Given the description of an element on the screen output the (x, y) to click on. 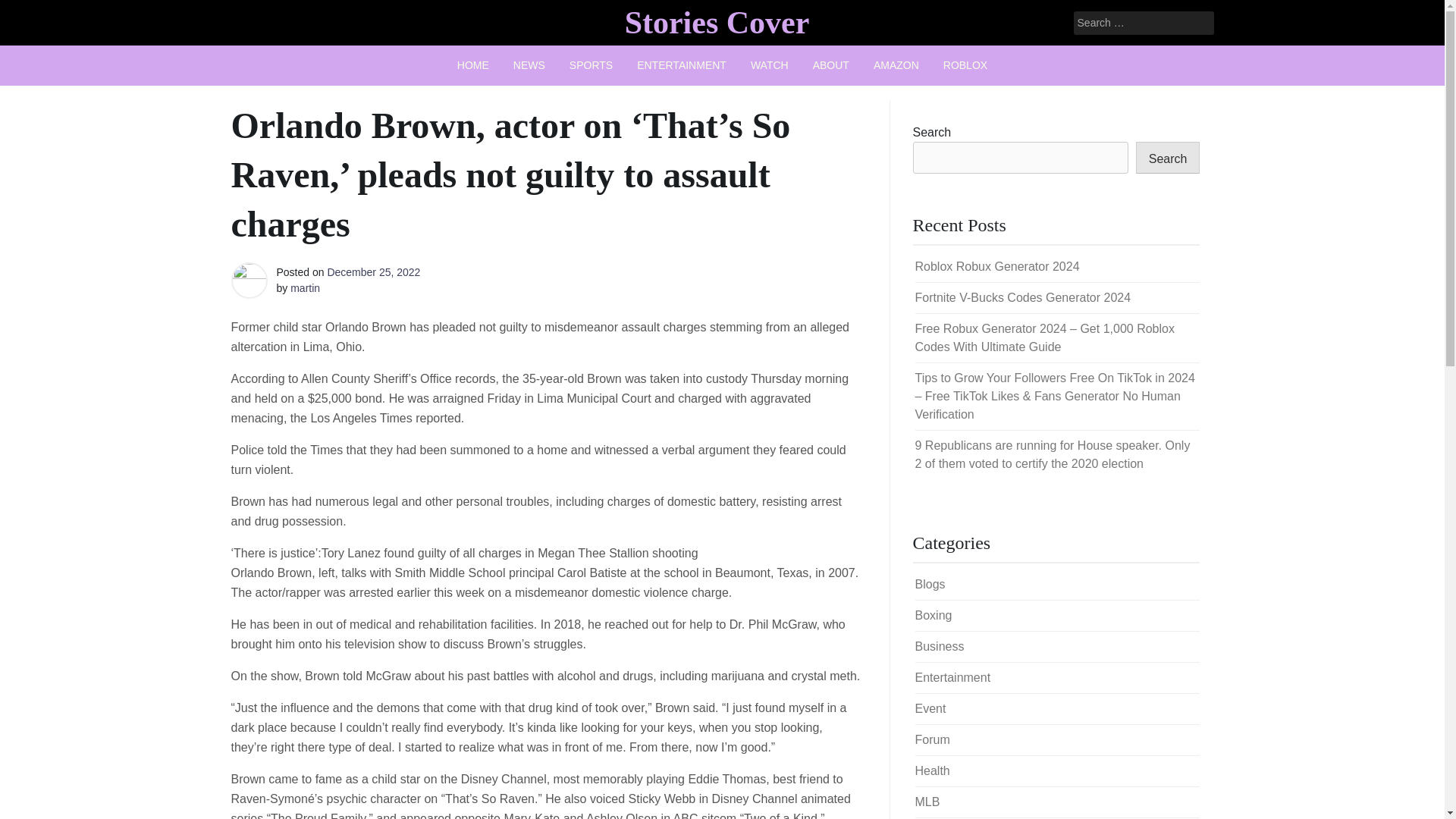
WATCH (769, 65)
Search (32, 12)
ABOUT (830, 65)
SPORTS (590, 65)
Stories Cover (716, 22)
AMAZON (896, 65)
martin (304, 287)
HOME (472, 65)
ENTERTAINMENT (681, 65)
ROBLOX (964, 65)
